Given the description of an element on the screen output the (x, y) to click on. 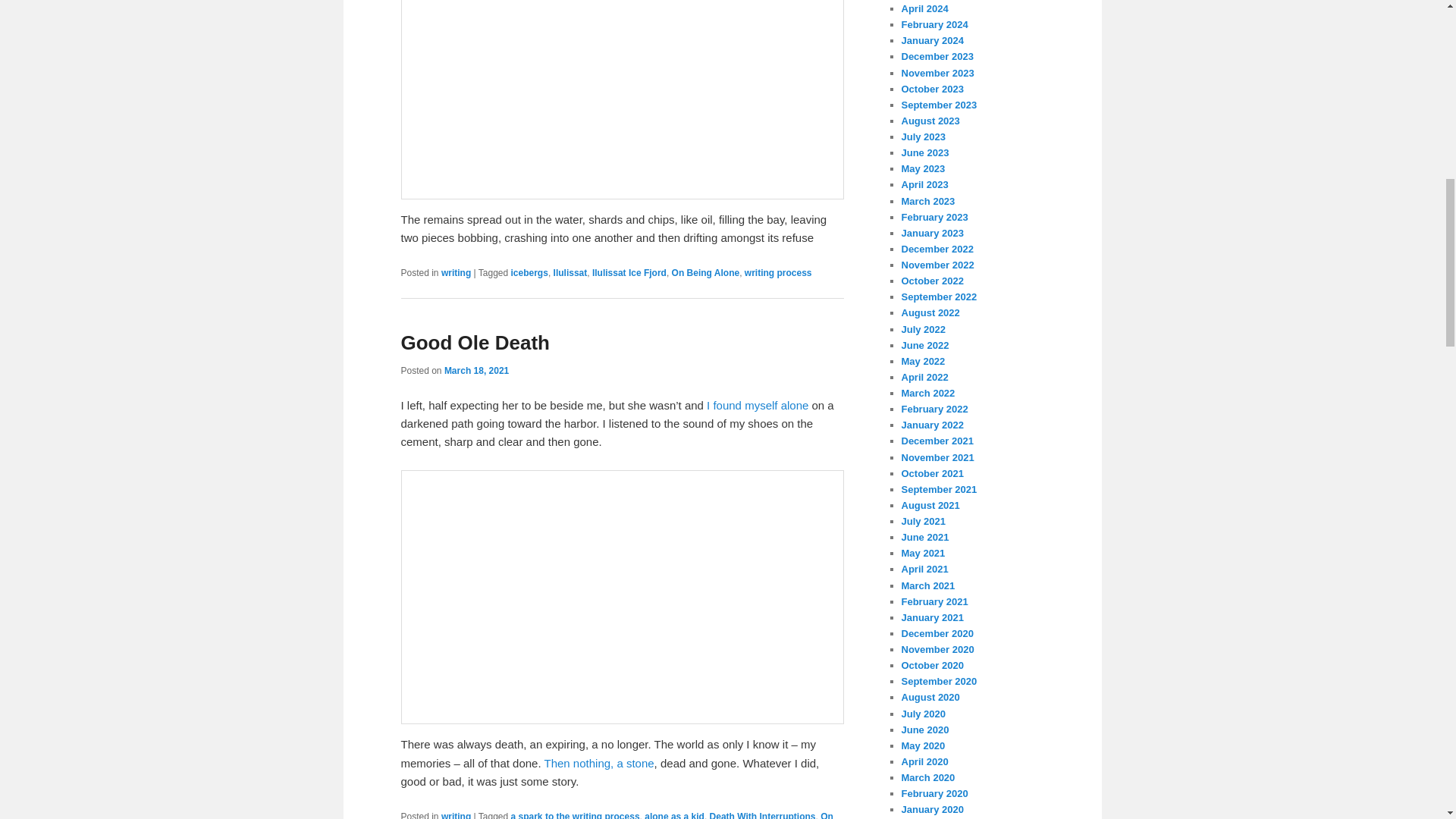
Then nothing, a stone (598, 762)
Ilulissat (570, 272)
On Being Alone (705, 272)
11:12 am (476, 370)
Good Ole Death (474, 342)
Ilulissat Ice Fjord (629, 272)
On Being Alone (616, 815)
alone as a kid (674, 815)
icebergs (529, 272)
March 18, 2021 (476, 370)
